Given the description of an element on the screen output the (x, y) to click on. 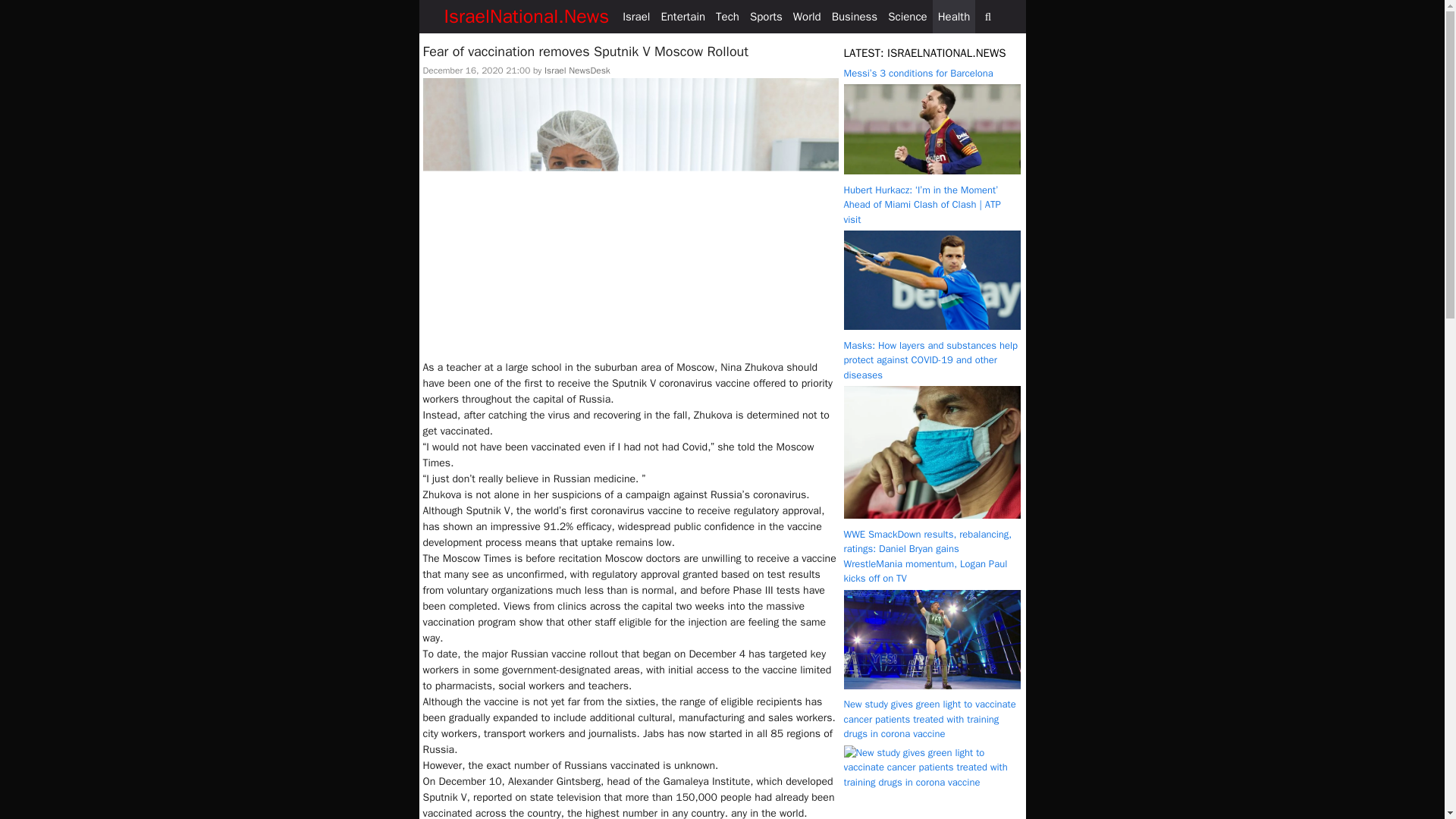
Tech (727, 16)
Entertain (682, 16)
World (807, 16)
Sports (765, 16)
IsraelNational.News (527, 16)
Business (855, 16)
Israel NewsDesk (577, 70)
Israel (636, 16)
View all posts by Israel NewsDesk (577, 70)
